Given the description of an element on the screen output the (x, y) to click on. 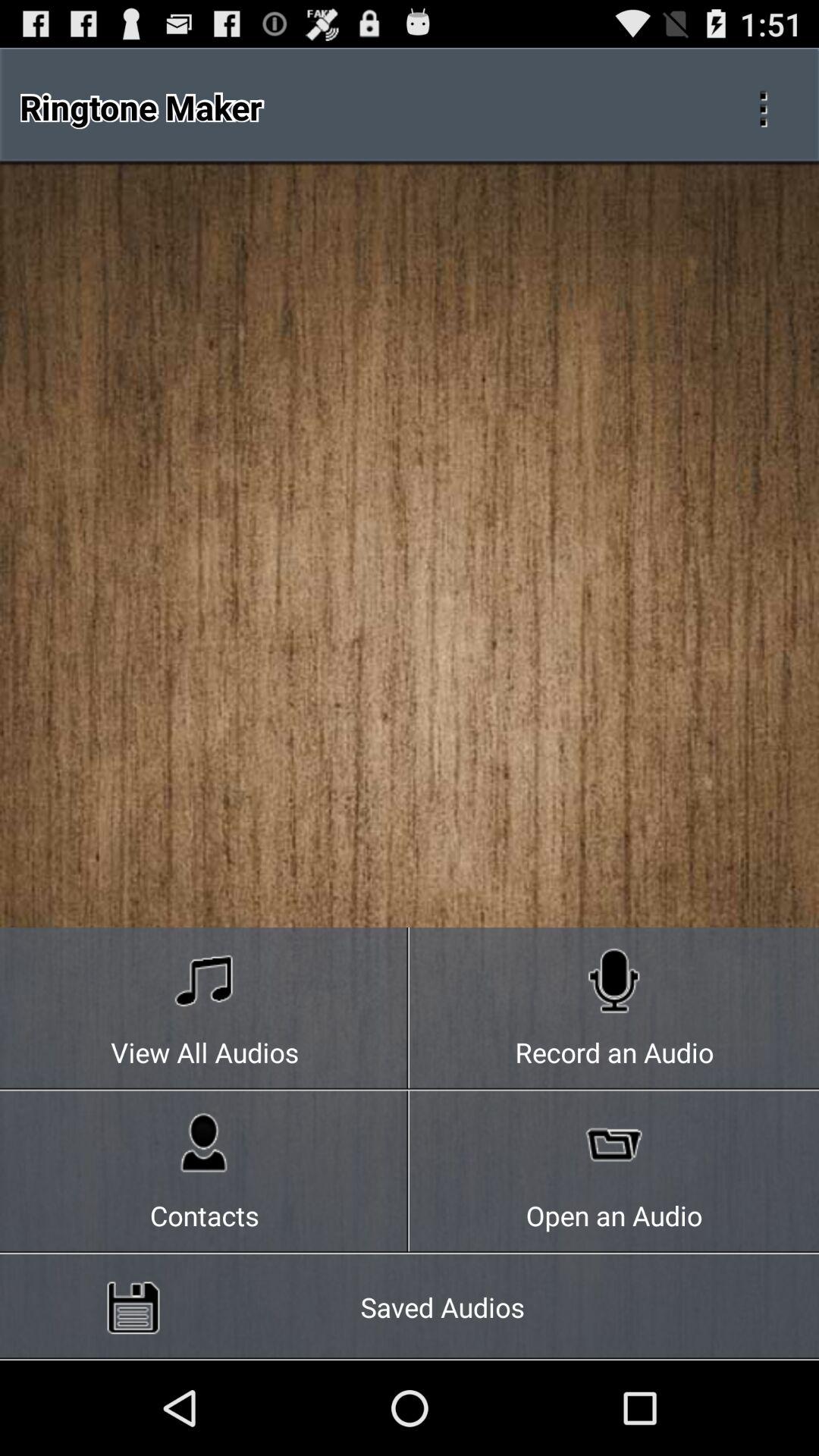
click item below the ringtone maker icon (204, 1008)
